Given the description of an element on the screen output the (x, y) to click on. 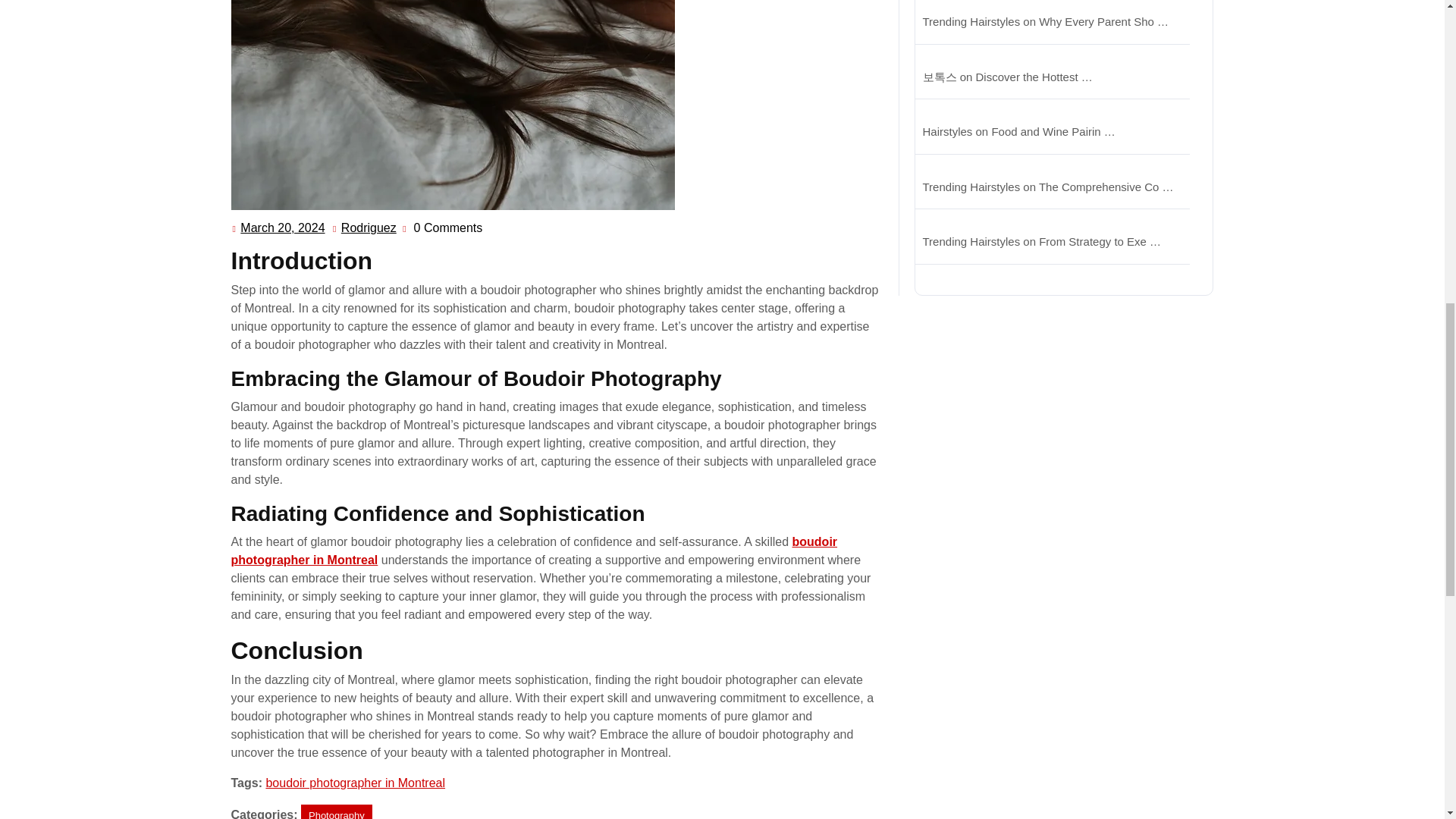
Photography (368, 228)
Trending Hairstyles (336, 811)
Hairstyles (970, 21)
boudoir photographer in Montreal (946, 131)
boudoir photographer in Montreal (354, 782)
Trending Hairstyles (282, 228)
Trending Hairstyles (533, 550)
